Given the description of an element on the screen output the (x, y) to click on. 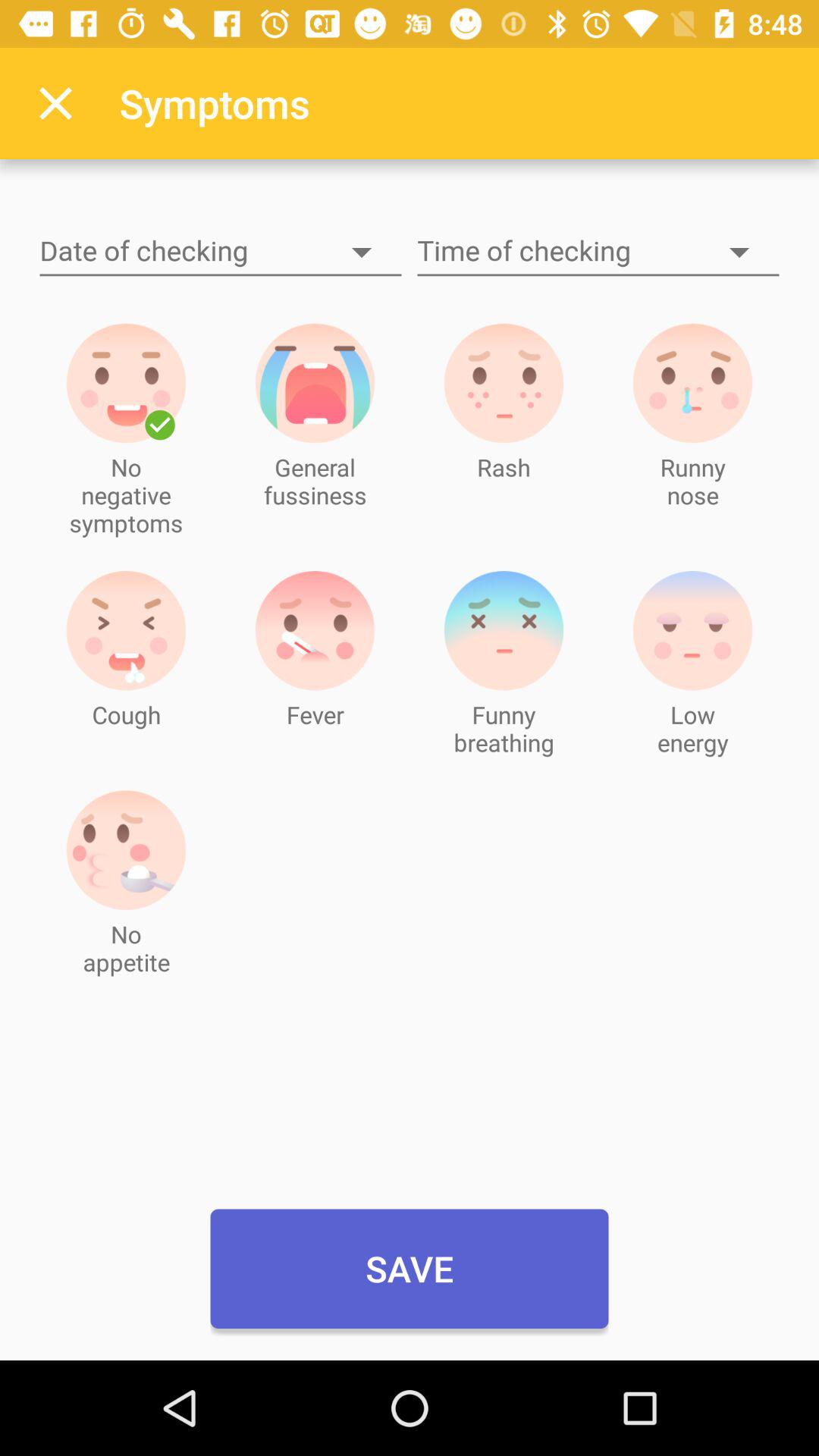
click the item next to the symptoms item (55, 103)
